Given the description of an element on the screen output the (x, y) to click on. 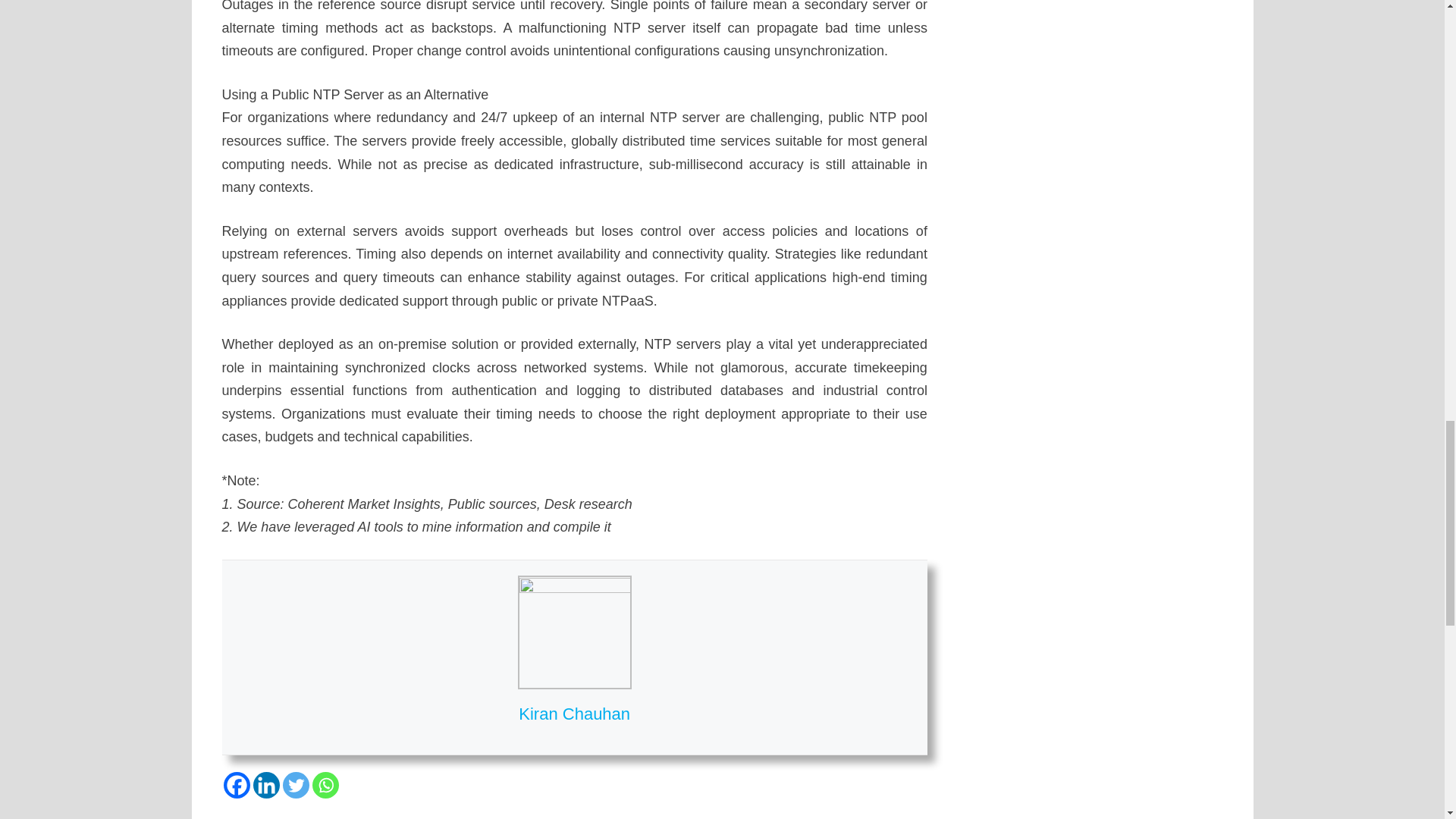
Linkedin (266, 785)
Twitter (295, 785)
Facebook (235, 785)
Whatsapp (326, 785)
